Given the description of an element on the screen output the (x, y) to click on. 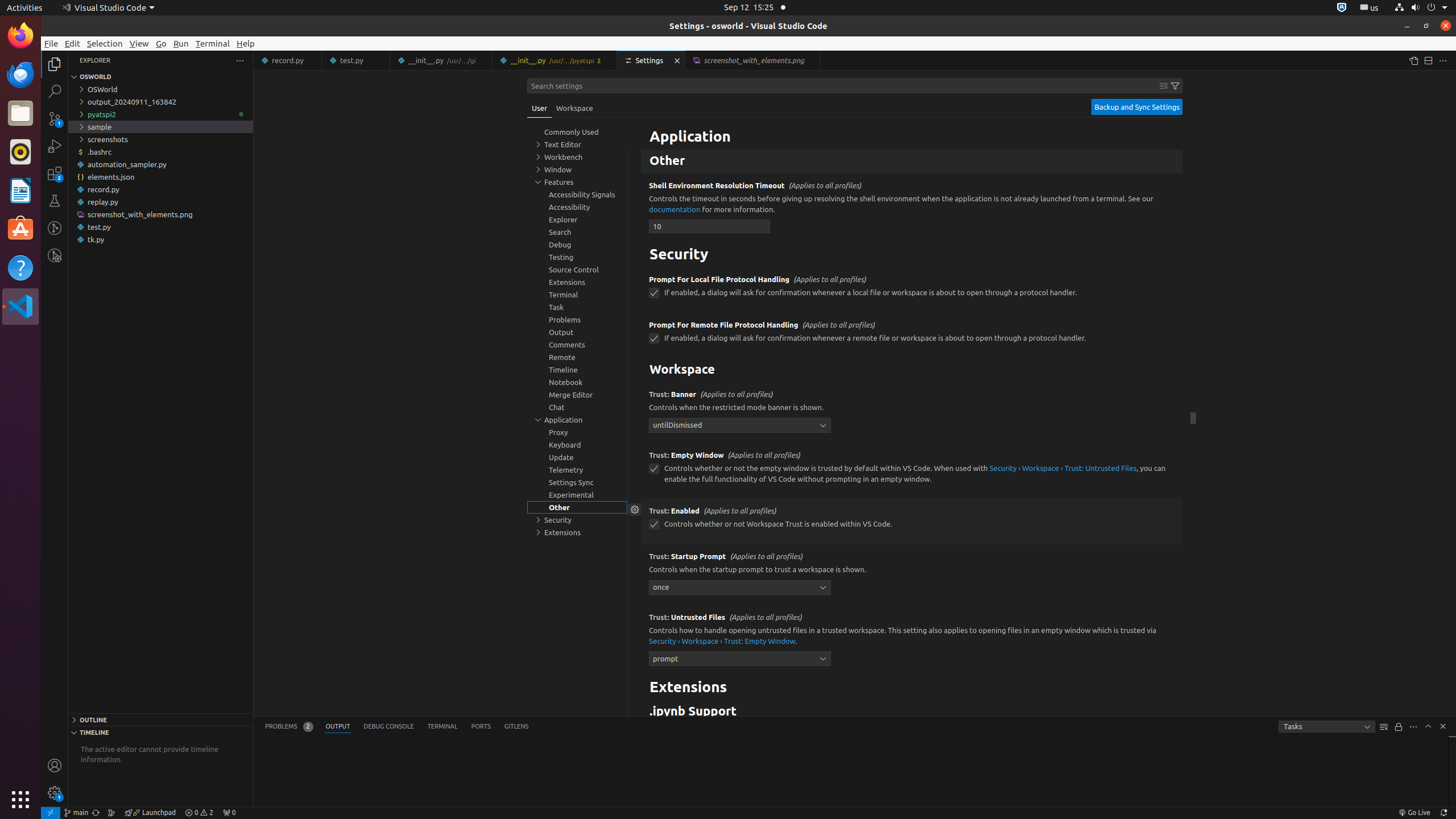
File Element type: push-button (50, 43)
prompt Element type: menu-item (739, 658)
Filter Settings Element type: push-button (1174, 85)
OSWorld (Git) - main, Checkout Branch/Tag... Element type: push-button (75, 812)
